Given the description of an element on the screen output the (x, y) to click on. 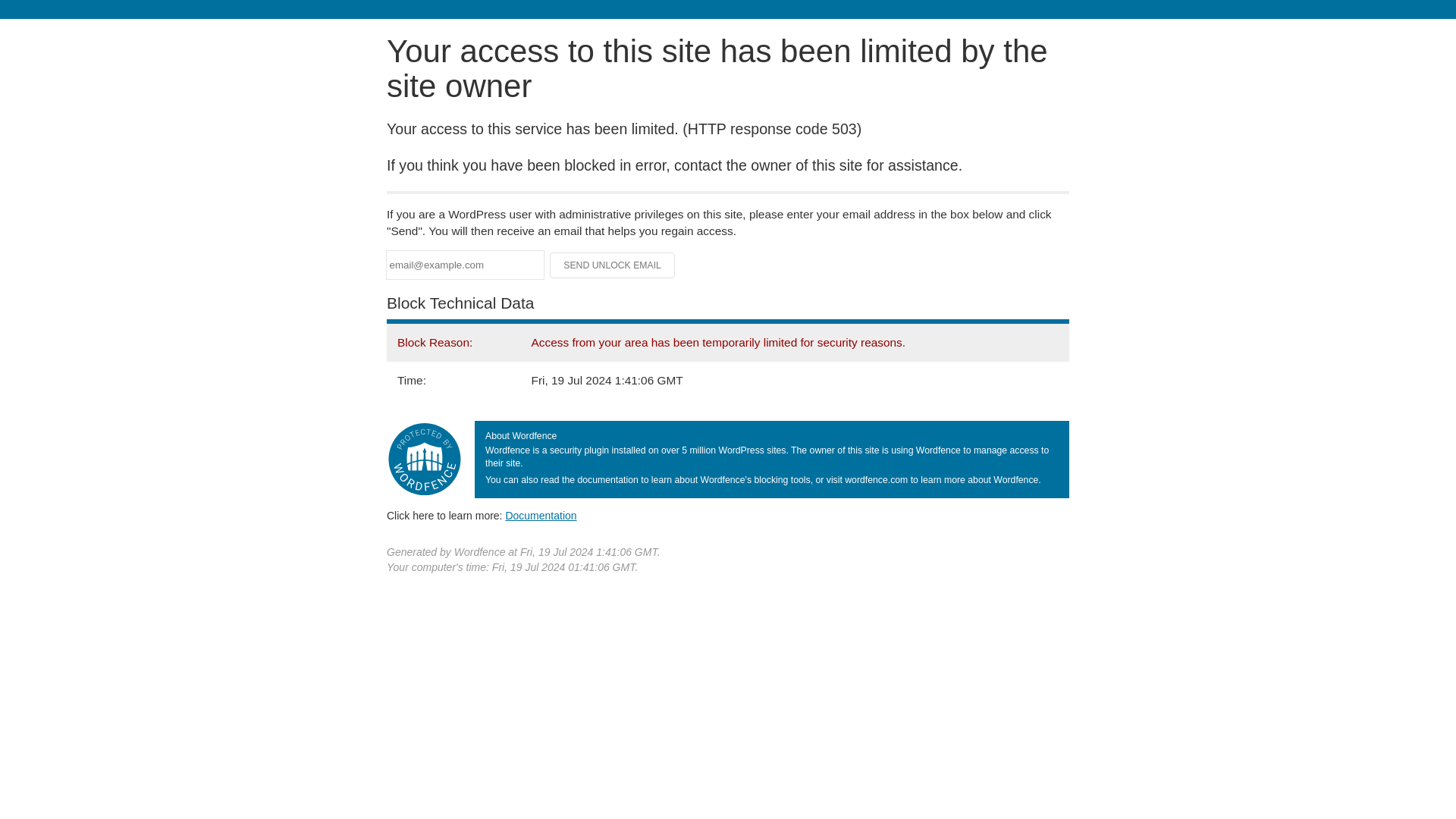
Send Unlock Email (612, 265)
Documentation (540, 515)
Send Unlock Email (612, 265)
